Given the description of an element on the screen output the (x, y) to click on. 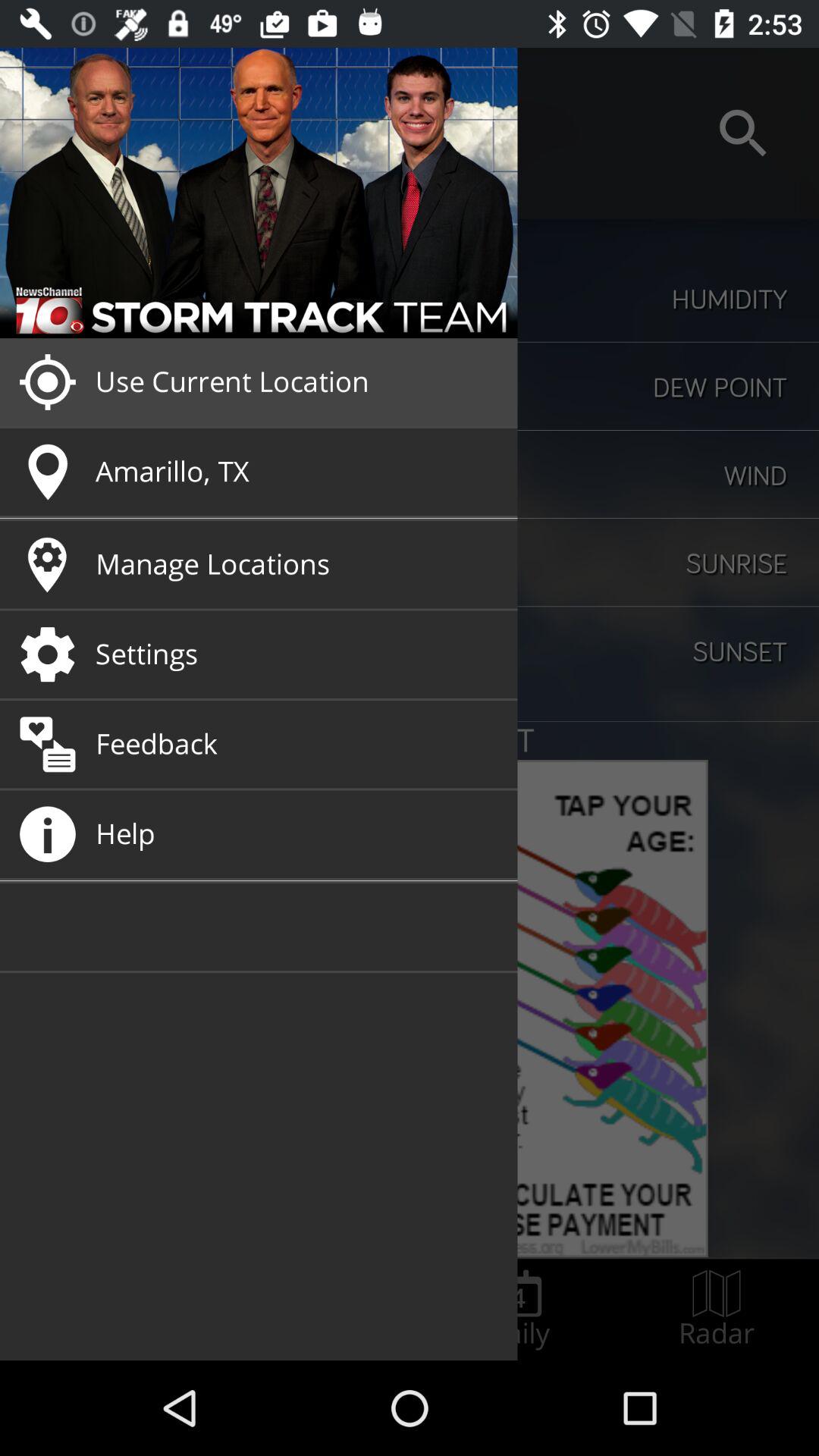
incorrect bounding box (518, 1309)
